Given the description of an element on the screen output the (x, y) to click on. 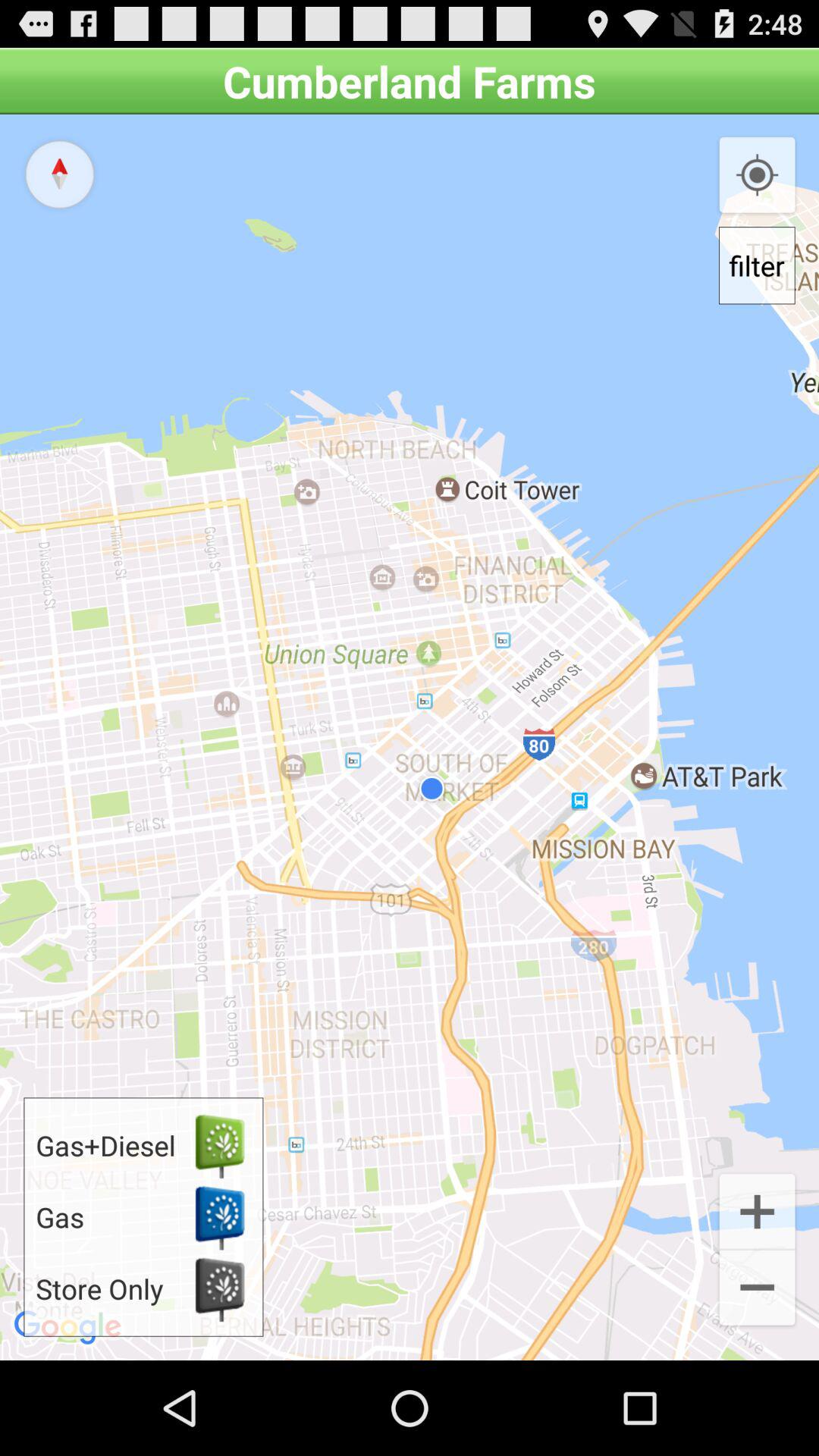
choose button below the filter (757, 1210)
